Given the description of an element on the screen output the (x, y) to click on. 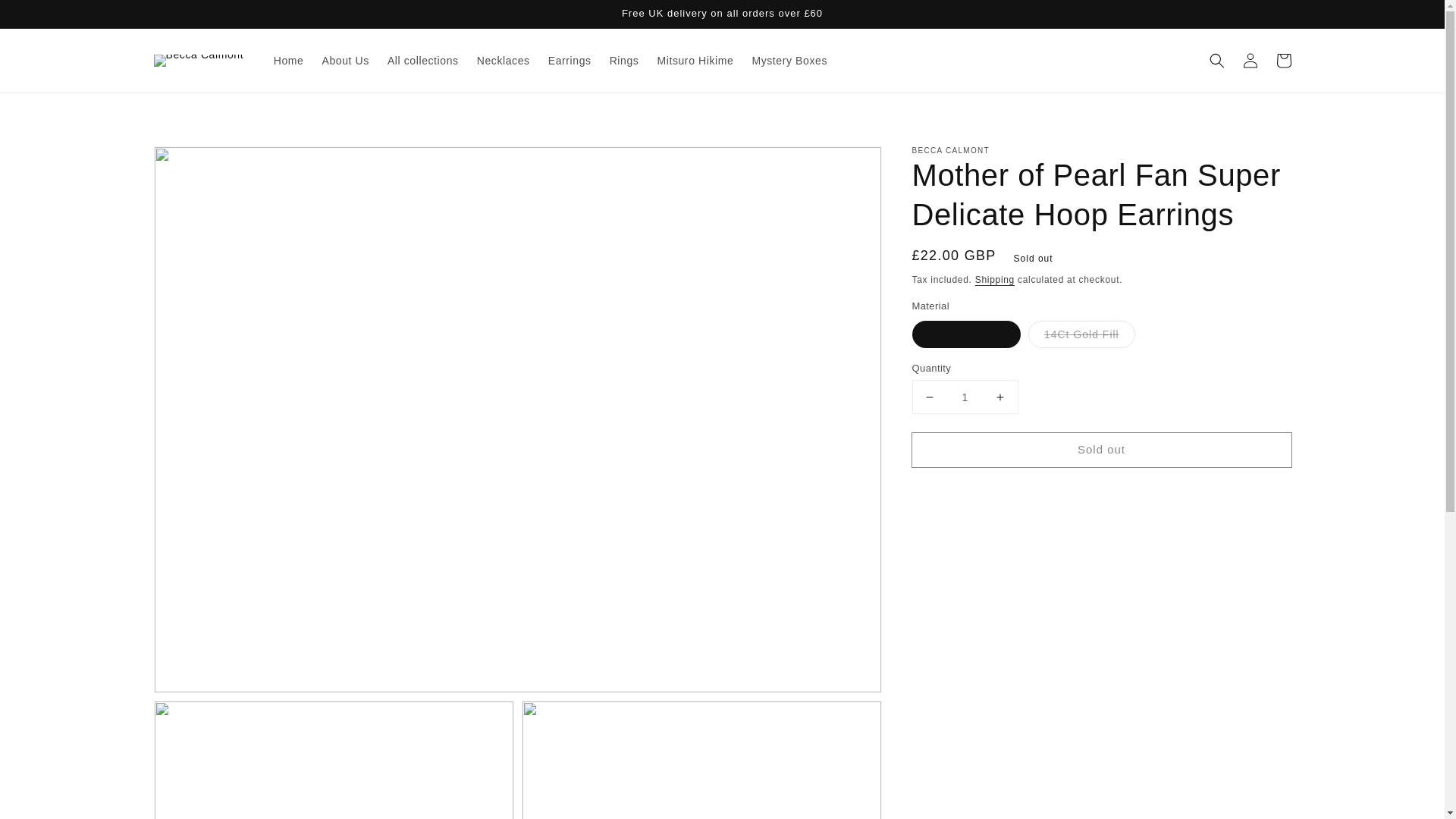
Sold out (1100, 449)
Home (288, 60)
Rings (623, 60)
Earrings (568, 60)
Skip to content (45, 16)
Open media 3 in gallery view (700, 760)
Mitsuro Hikime (694, 60)
Log in (1249, 60)
